Given the description of an element on the screen output the (x, y) to click on. 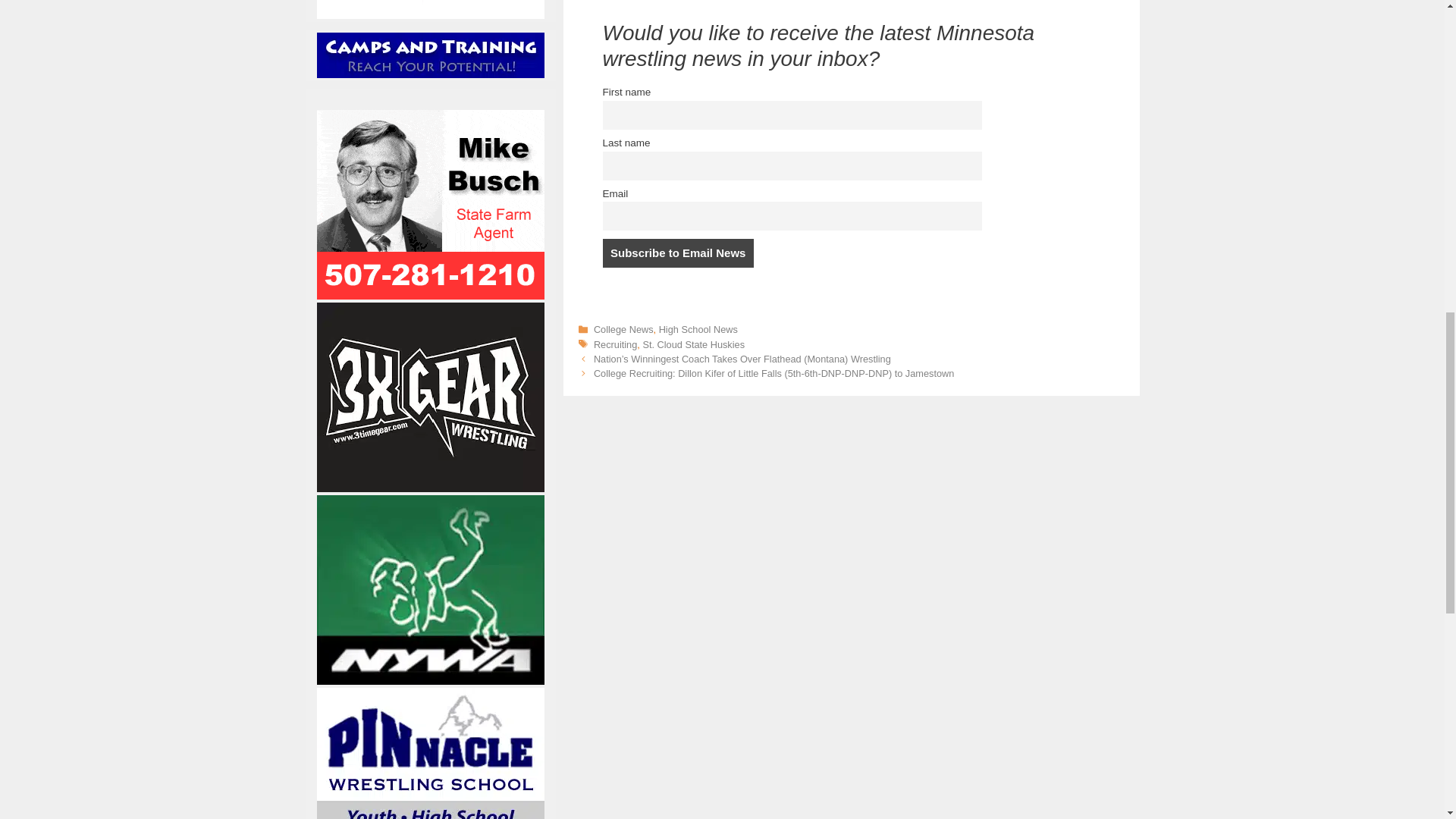
Subscribe to Email News (677, 253)
